Given the description of an element on the screen output the (x, y) to click on. 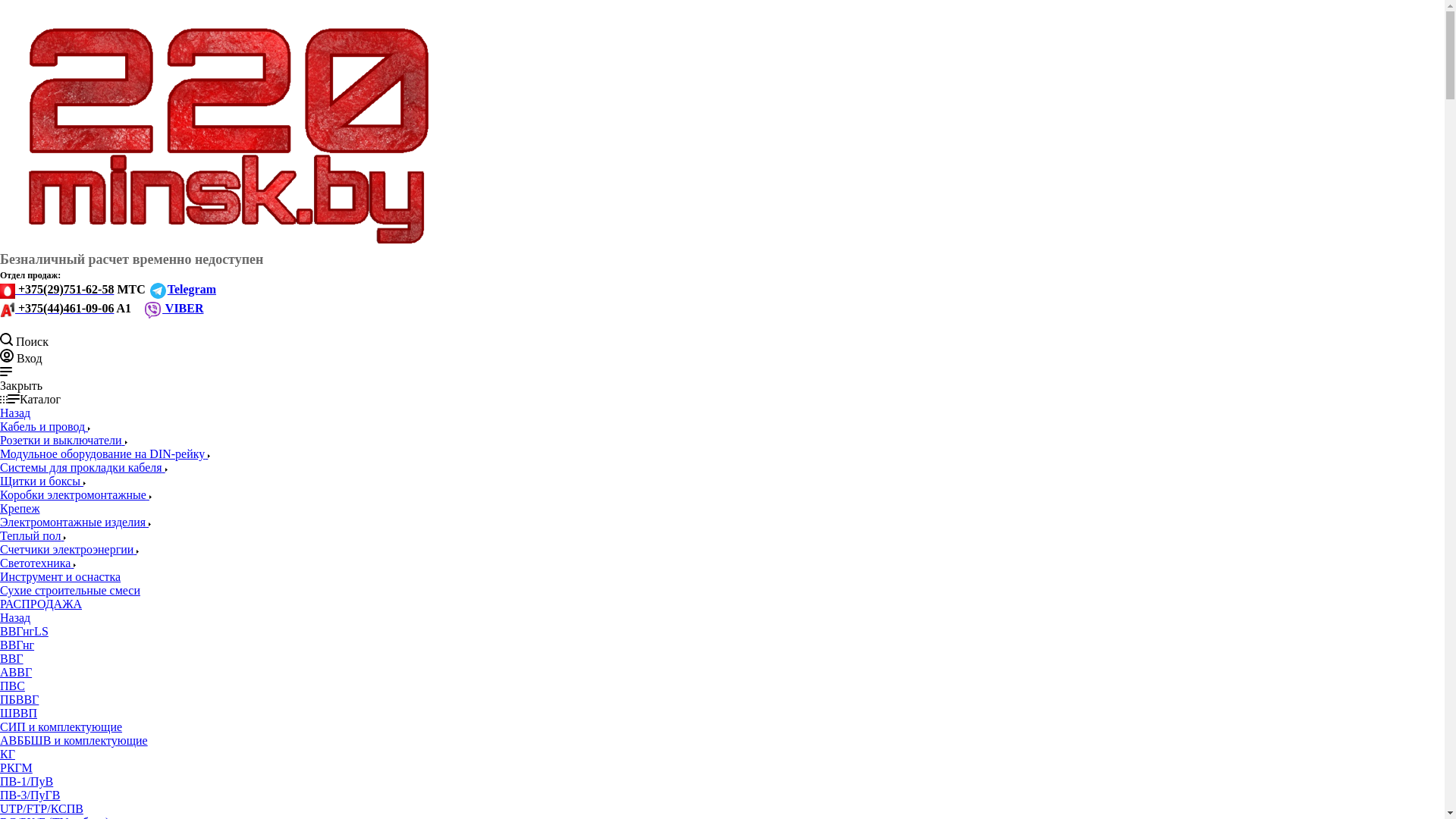
 VIBER Element type: text (173, 307)
Telegram Element type: text (182, 288)
 +375(29)751-62-58 Element type: text (56, 288)
 +375(44)461-09-06 Element type: text (56, 307)
